Given the description of an element on the screen output the (x, y) to click on. 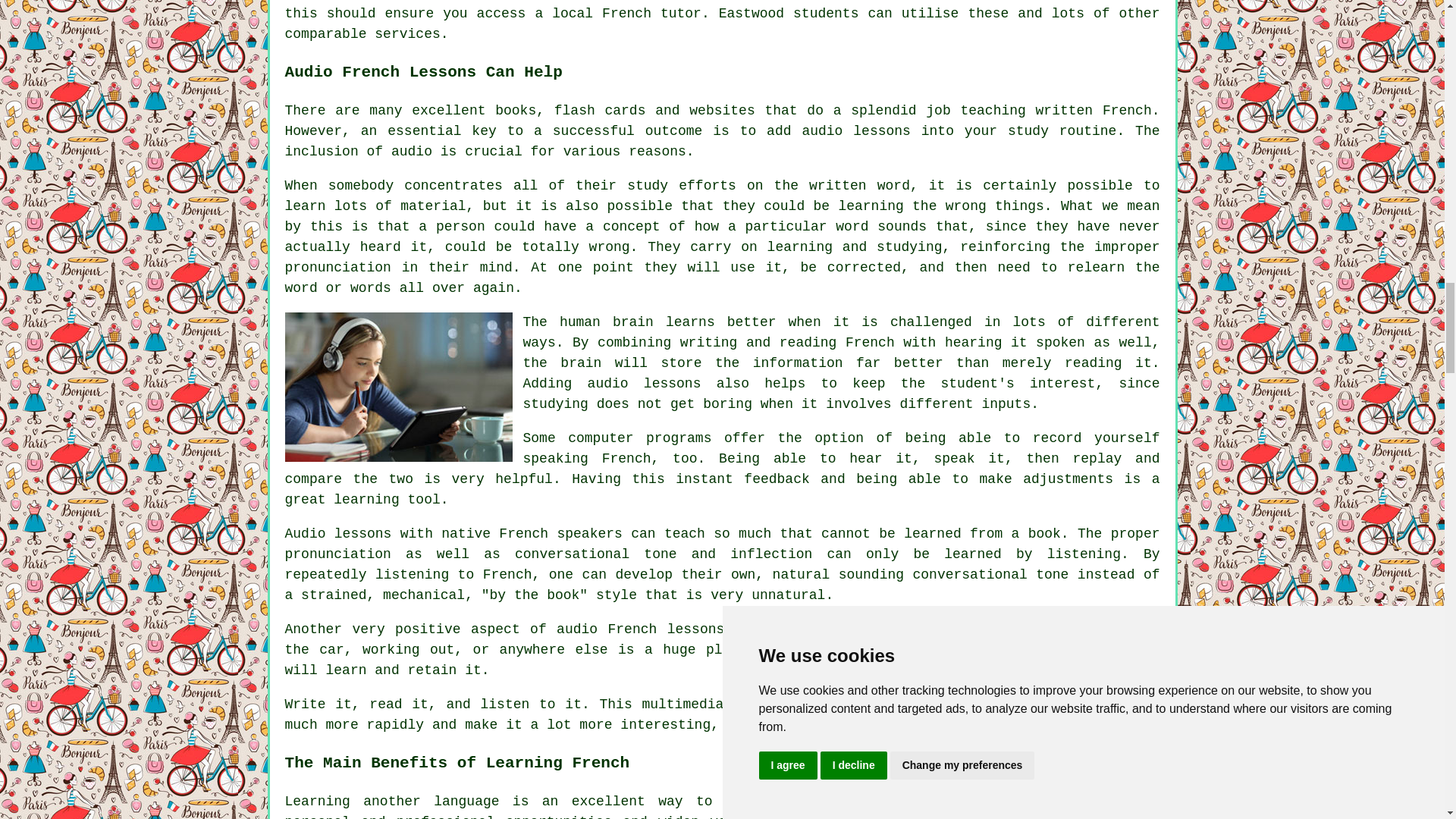
a local French tutor (617, 13)
Audio French Lessons Eastwood (398, 386)
